Given the description of an element on the screen output the (x, y) to click on. 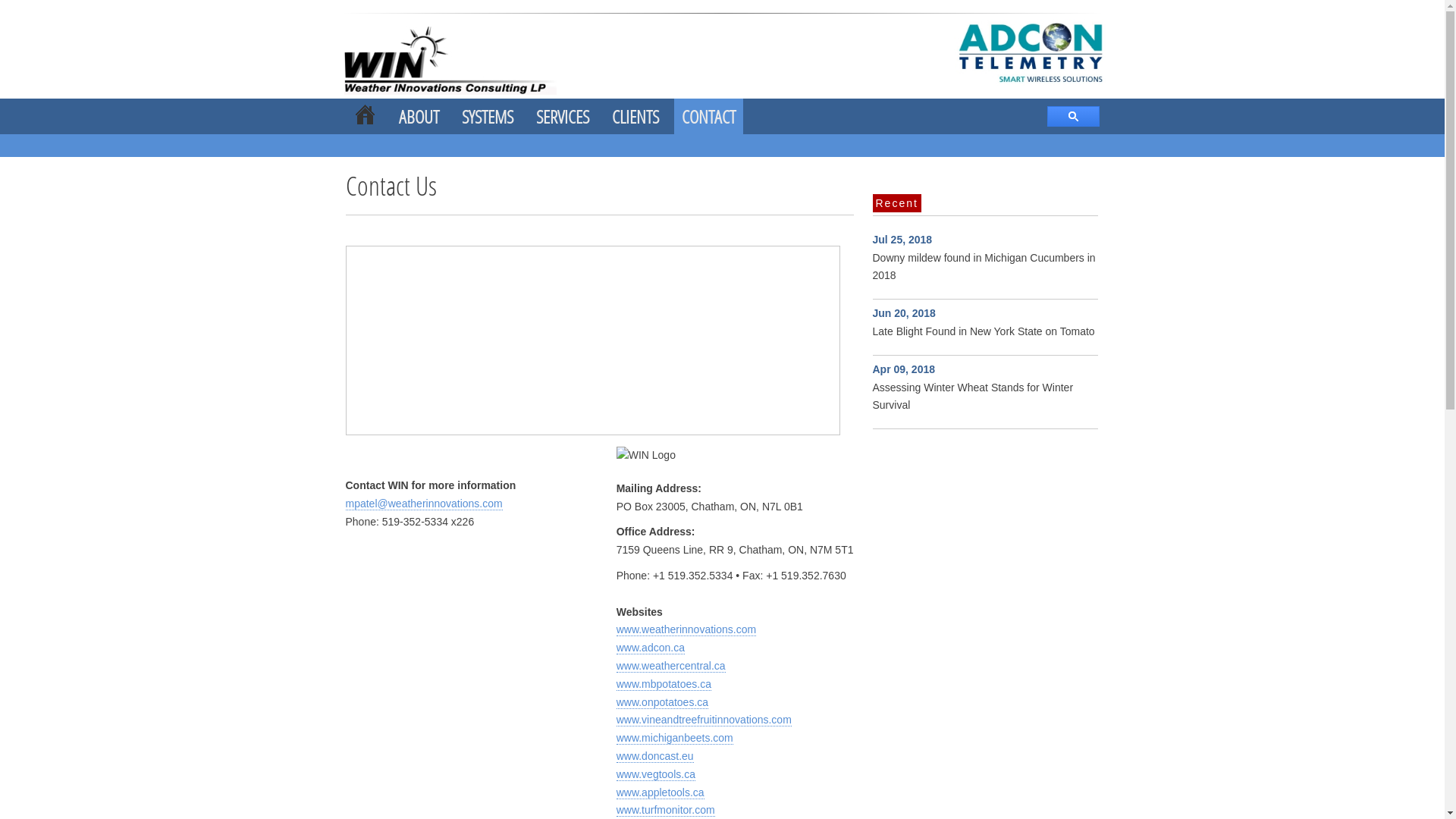
www.weathercentral.ca Element type: text (670, 665)
www.michiganbeets.com Element type: text (674, 737)
adcon.ca Element type: text (465, 58)
www.turfmonitor.com Element type: text (665, 809)
www.onpotatoes.ca Element type: text (662, 702)
mpatel@weatherinnovations.com Element type: text (423, 503)
www.adcon.ca Element type: text (650, 647)
Jun 20, 2018
Late Blight Found in New York State on Tomato Element type: text (983, 322)
www.weatherinnovations.com Element type: text (686, 629)
SERVICES Element type: text (561, 115)
CLIENTS Element type: text (634, 115)
SYSTEMS Element type: text (486, 115)
www.appletools.ca Element type: text (660, 792)
www.doncast.eu Element type: text (654, 755)
www.vineandtreefruitinnovations.com Element type: text (703, 719)
www.vegtools.ca Element type: text (655, 774)
CONTACT Element type: text (707, 115)
ABOUT Element type: text (418, 115)
www.mbpotatoes.ca Element type: text (663, 683)
